Given the description of an element on the screen output the (x, y) to click on. 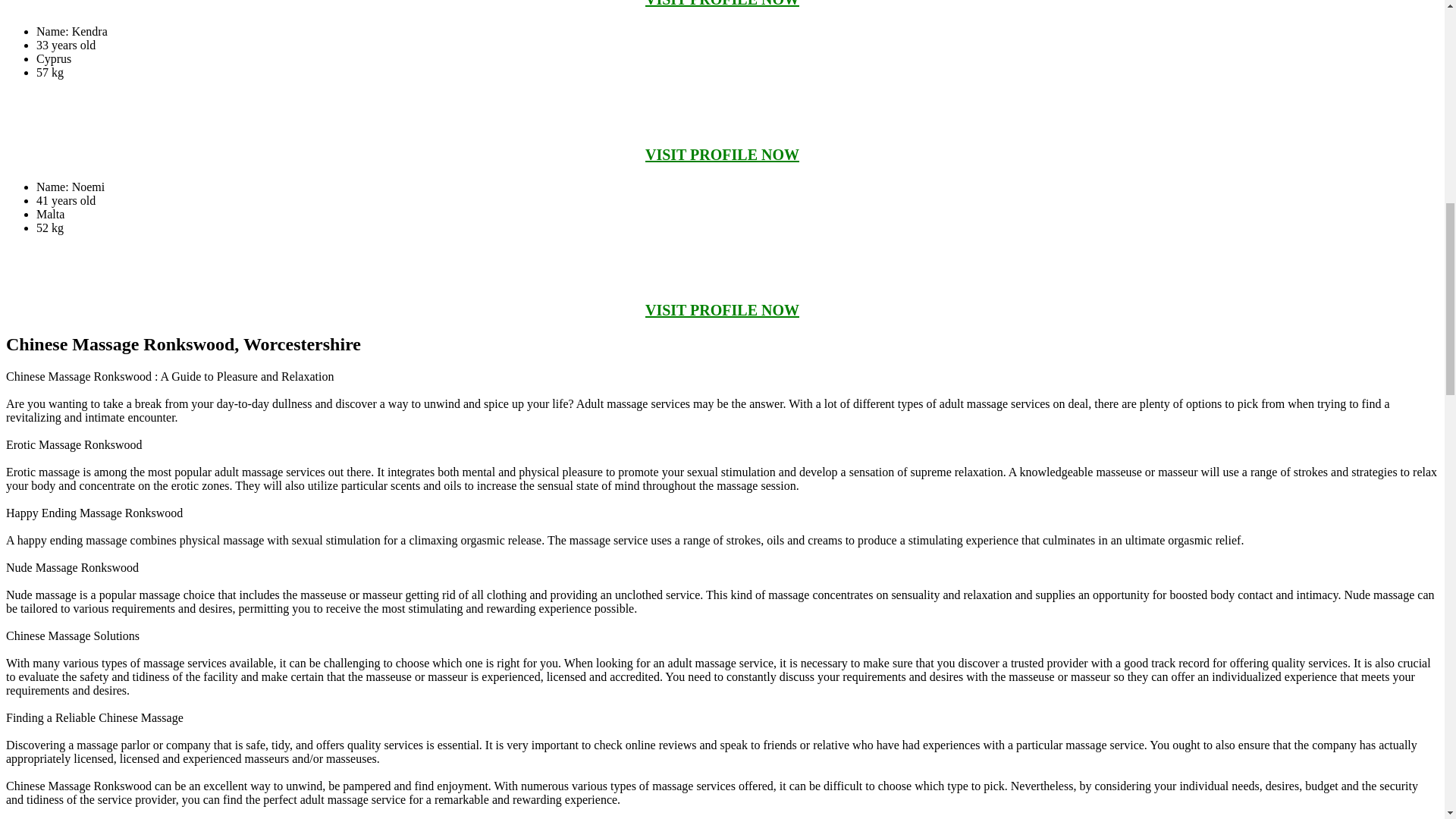
VISIT PROFILE NOW (722, 3)
VISIT PROFILE NOW (722, 310)
VISIT PROFILE NOW (722, 154)
